Given the description of an element on the screen output the (x, y) to click on. 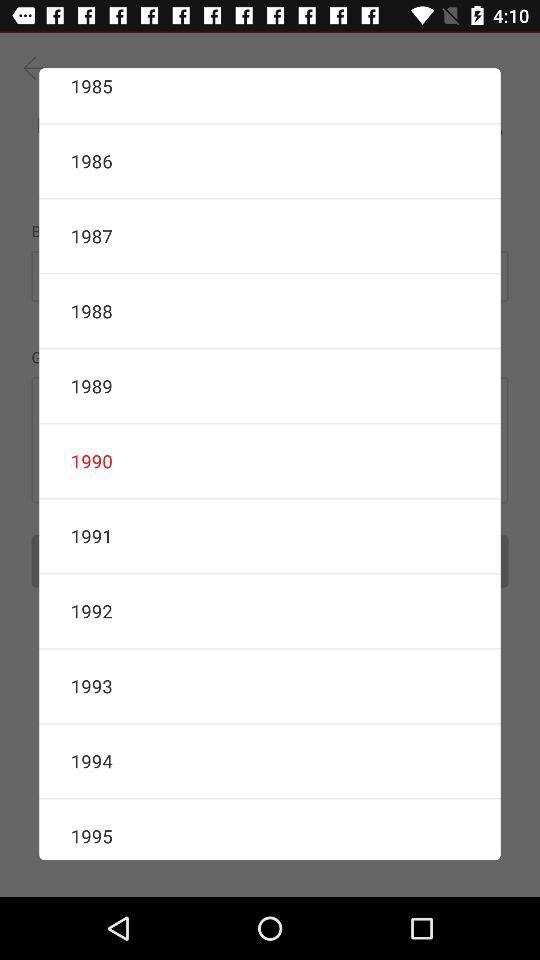
select the item above 1986 item (269, 95)
